Given the description of an element on the screen output the (x, y) to click on. 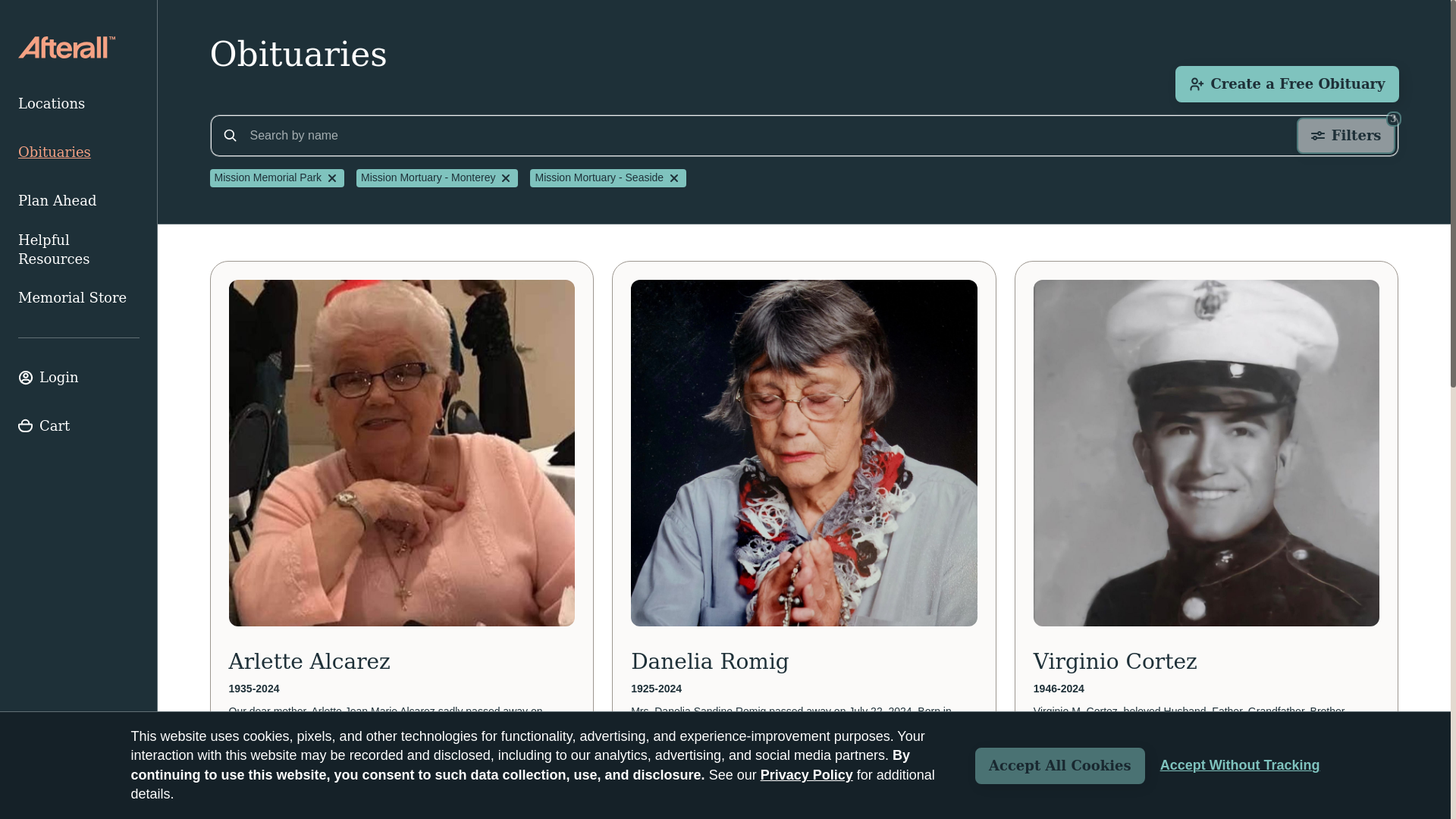
Sign In (78, 377)
Accept All Cookies (1059, 765)
Memorial Store (78, 297)
Cart (78, 426)
View your cart (78, 426)
Plan Ahead (78, 200)
Login (78, 377)
Locations (78, 103)
